Given the description of an element on the screen output the (x, y) to click on. 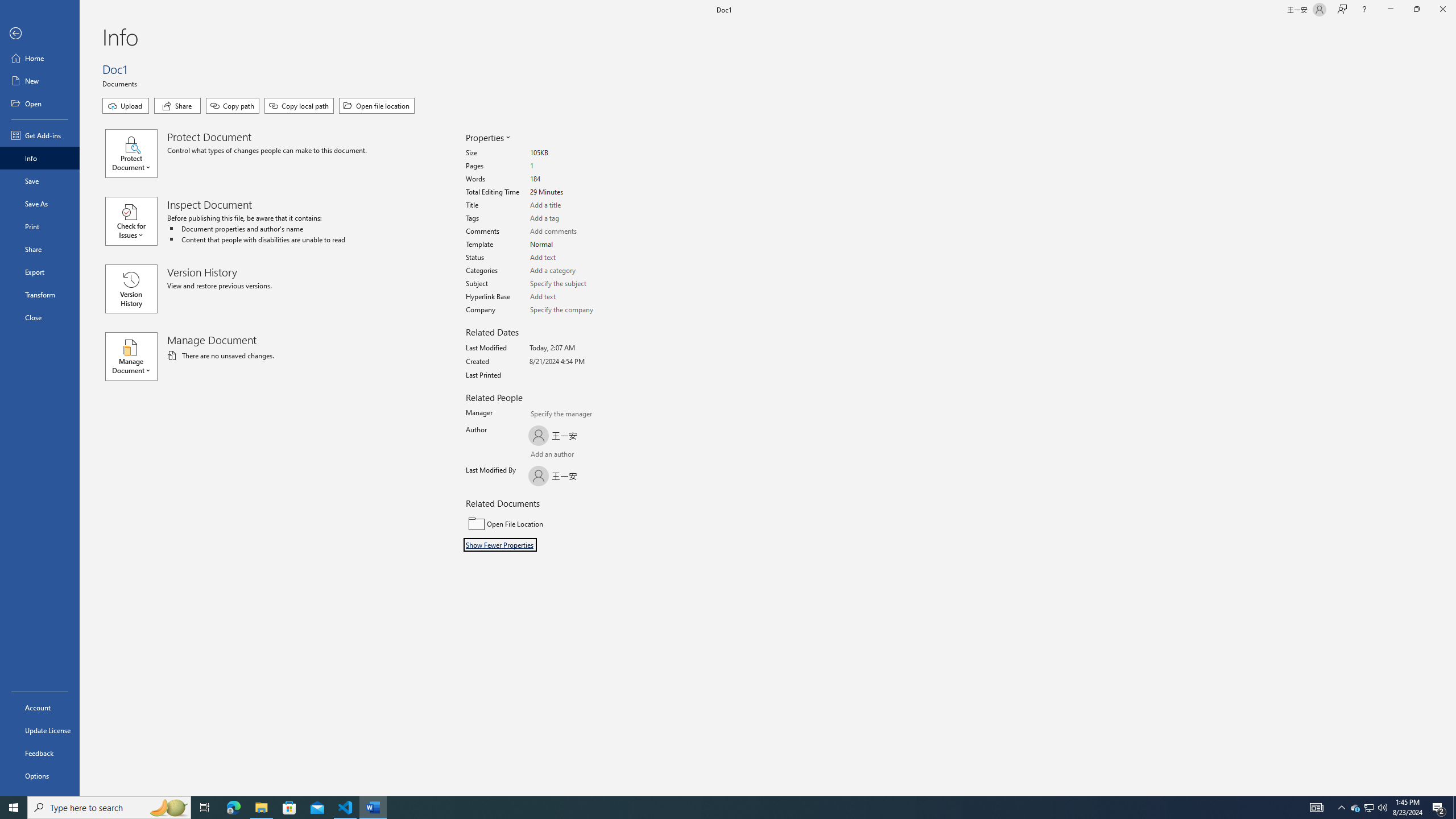
Save As (40, 203)
Options (40, 775)
Close (40, 317)
Properties (486, 137)
Documents (120, 83)
Account (40, 707)
Size (572, 153)
Minimize (1390, 9)
Company (572, 309)
Open File Location (541, 523)
Version History (130, 288)
Upload (124, 105)
Verify Names (559, 454)
Copy path (232, 105)
Pages (572, 166)
